Given the description of an element on the screen output the (x, y) to click on. 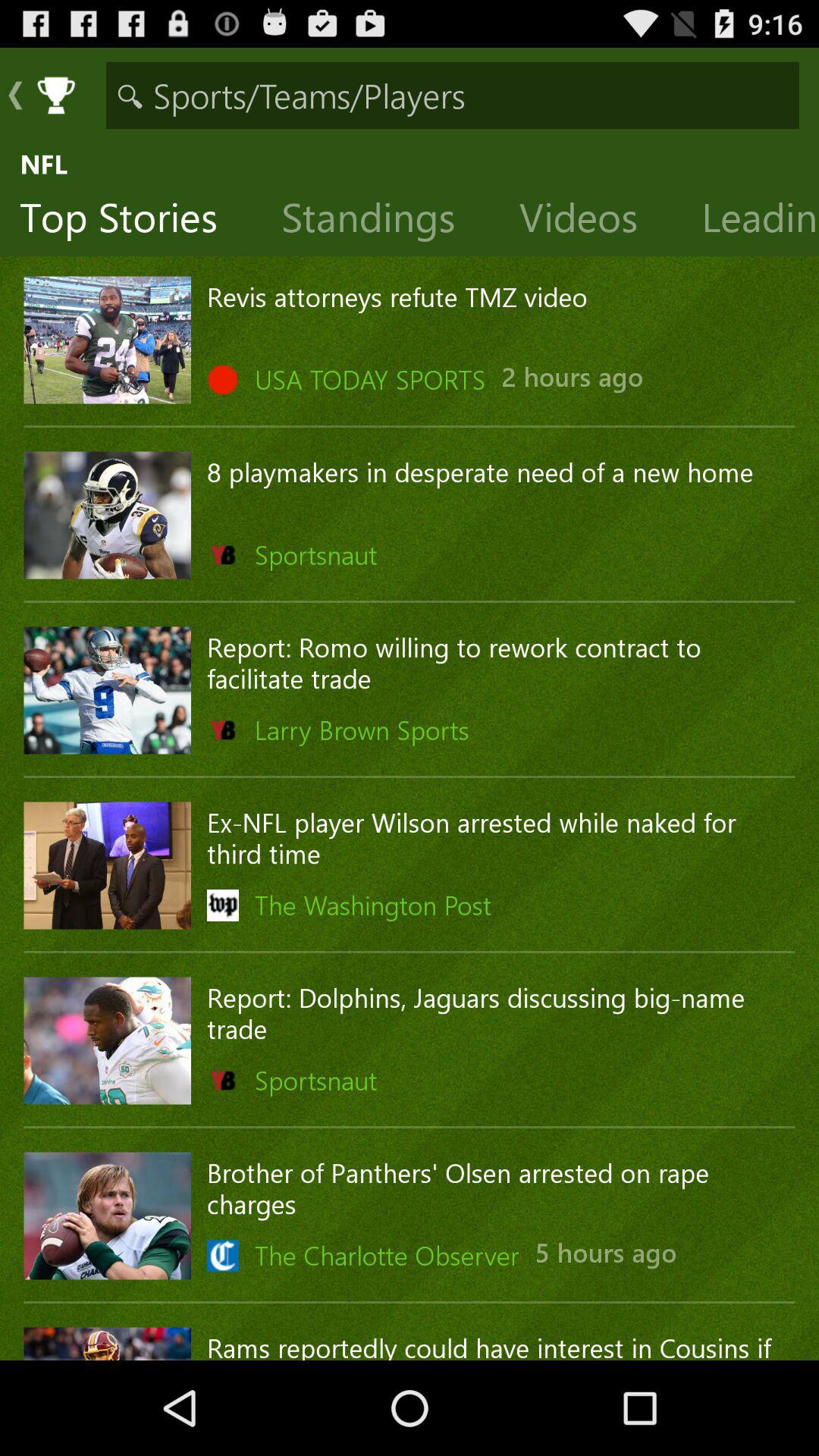
search (452, 95)
